Given the description of an element on the screen output the (x, y) to click on. 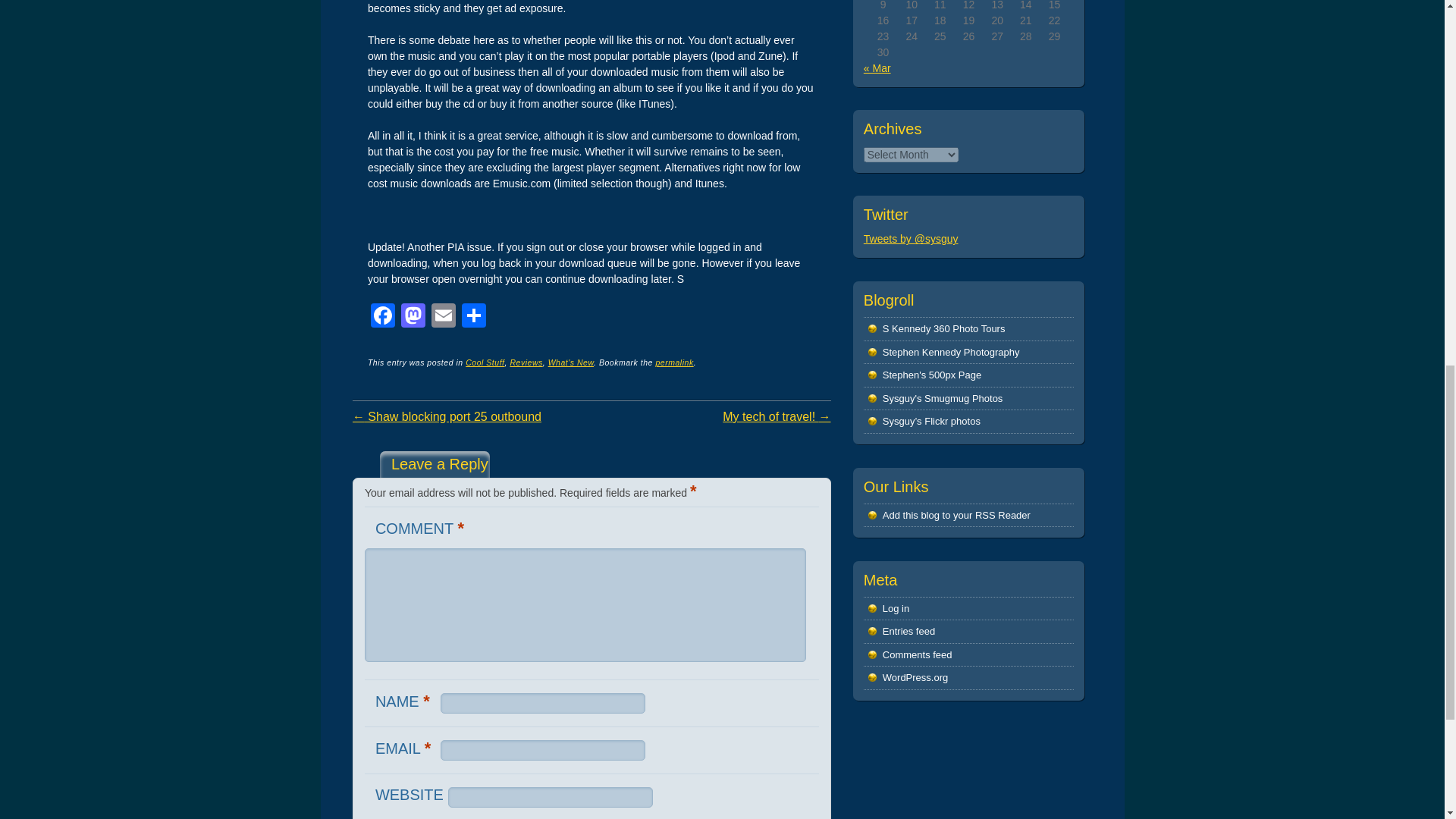
Facebook (382, 317)
permalink (674, 361)
Mastodon (412, 317)
Email (443, 317)
What's New (571, 361)
Cool Stuff (484, 361)
Permalink to Free Music?? (674, 361)
Mastodon (412, 317)
Email (443, 317)
Facebook (382, 317)
